Given the description of an element on the screen output the (x, y) to click on. 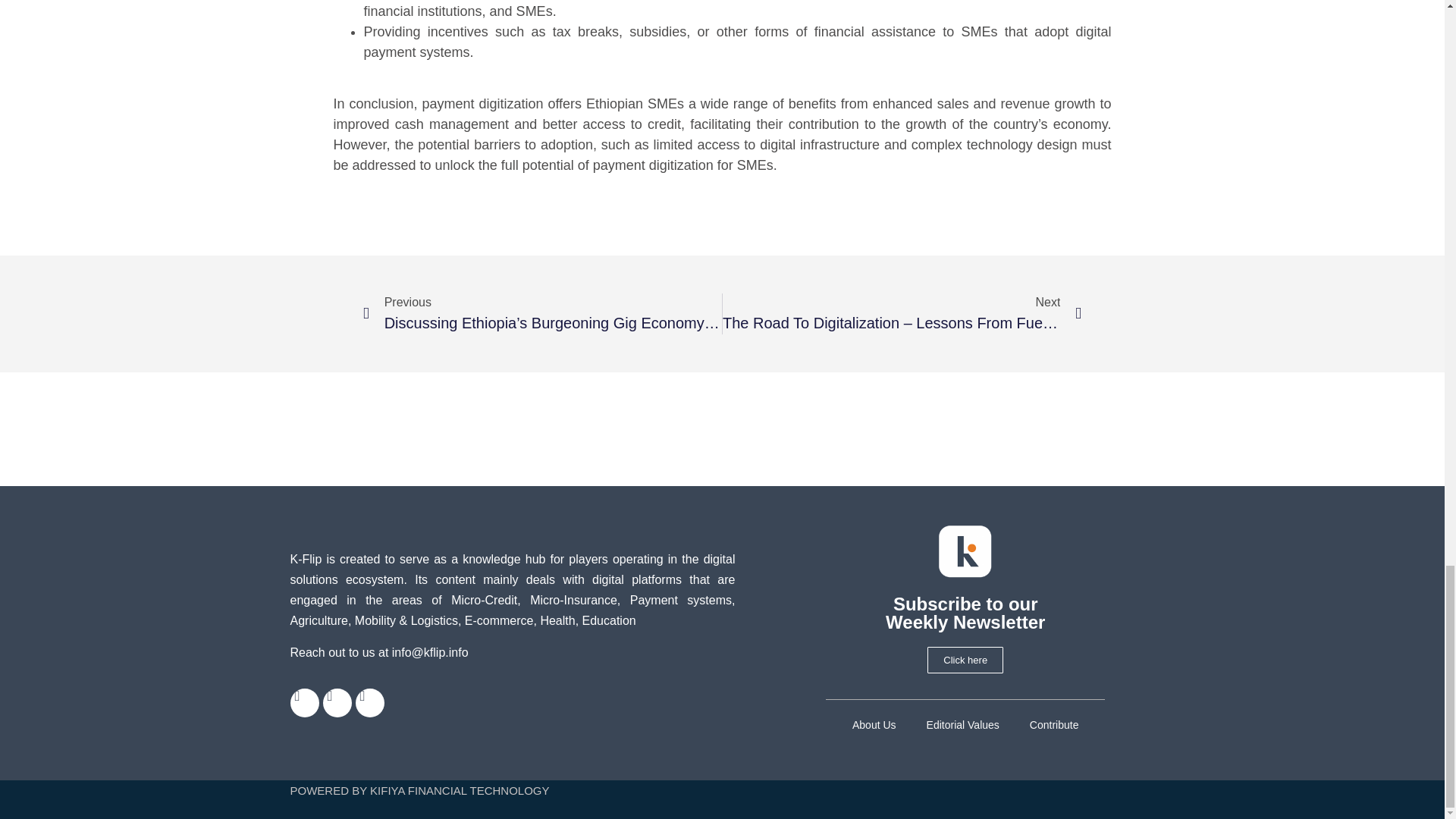
Editorial Values (962, 724)
Contribute (1054, 724)
Click here (965, 660)
About Us (874, 724)
